Given the description of an element on the screen output the (x, y) to click on. 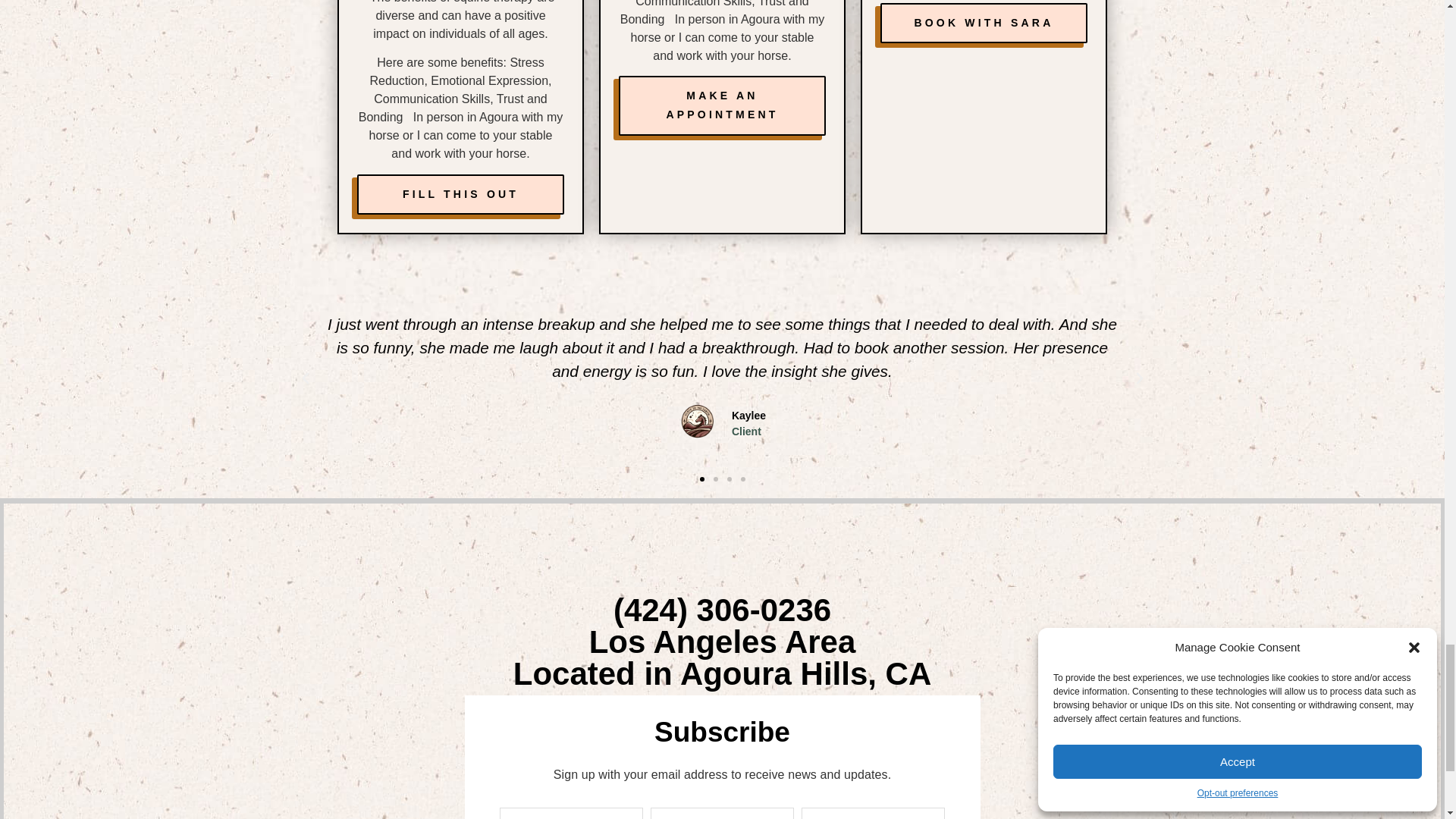
MAKE AN APPOINTMENT (721, 105)
BOOK WITH SARA (983, 23)
FILL THIS OUT (460, 194)
